Given the description of an element on the screen output the (x, y) to click on. 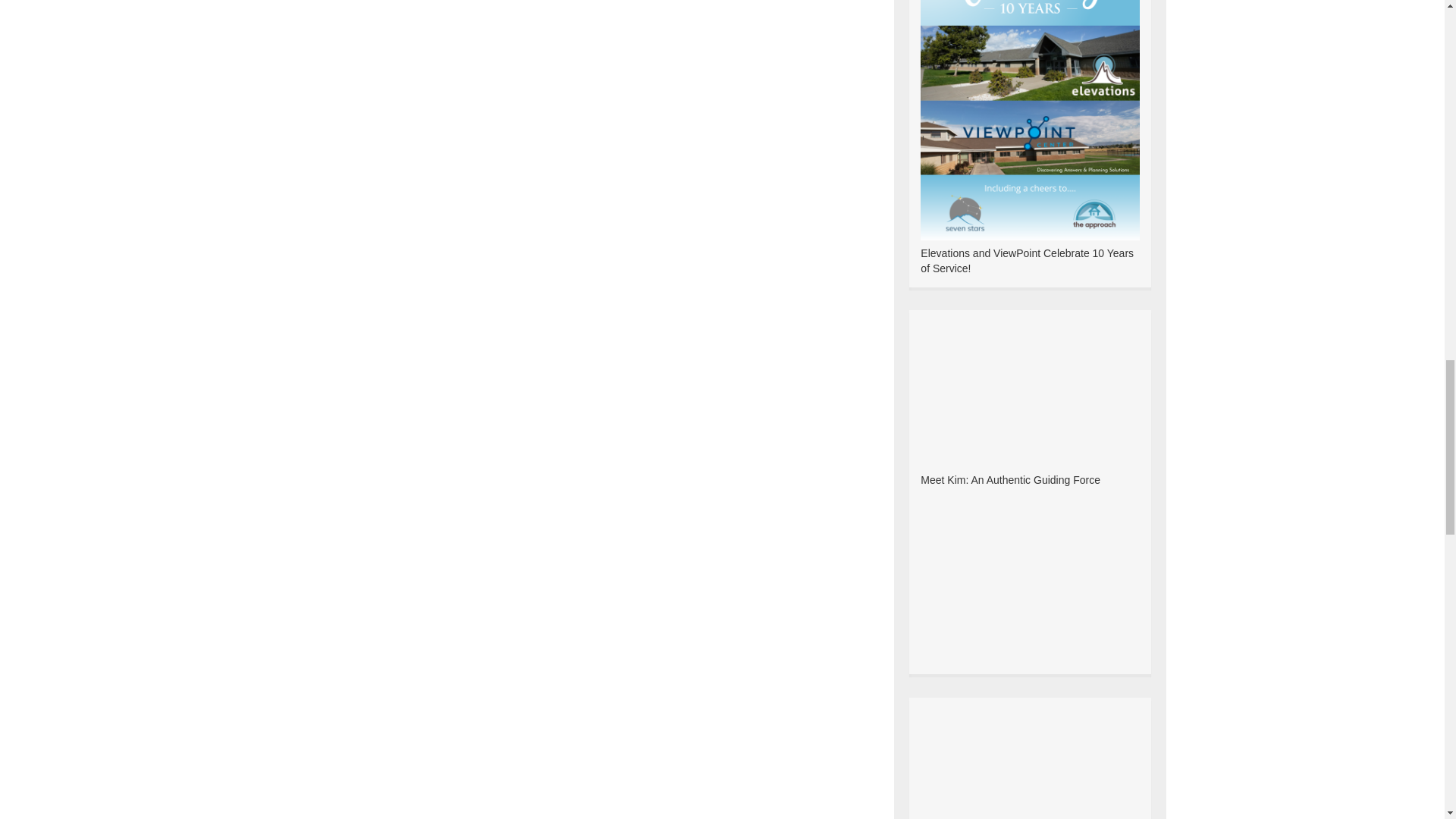
Elevations and ViewPoint Celebrate 10 Years of Service! (1029, 86)
Elevations and ViewPoint Celebrate 10 Years of Service! (1027, 260)
